Given the description of an element on the screen output the (x, y) to click on. 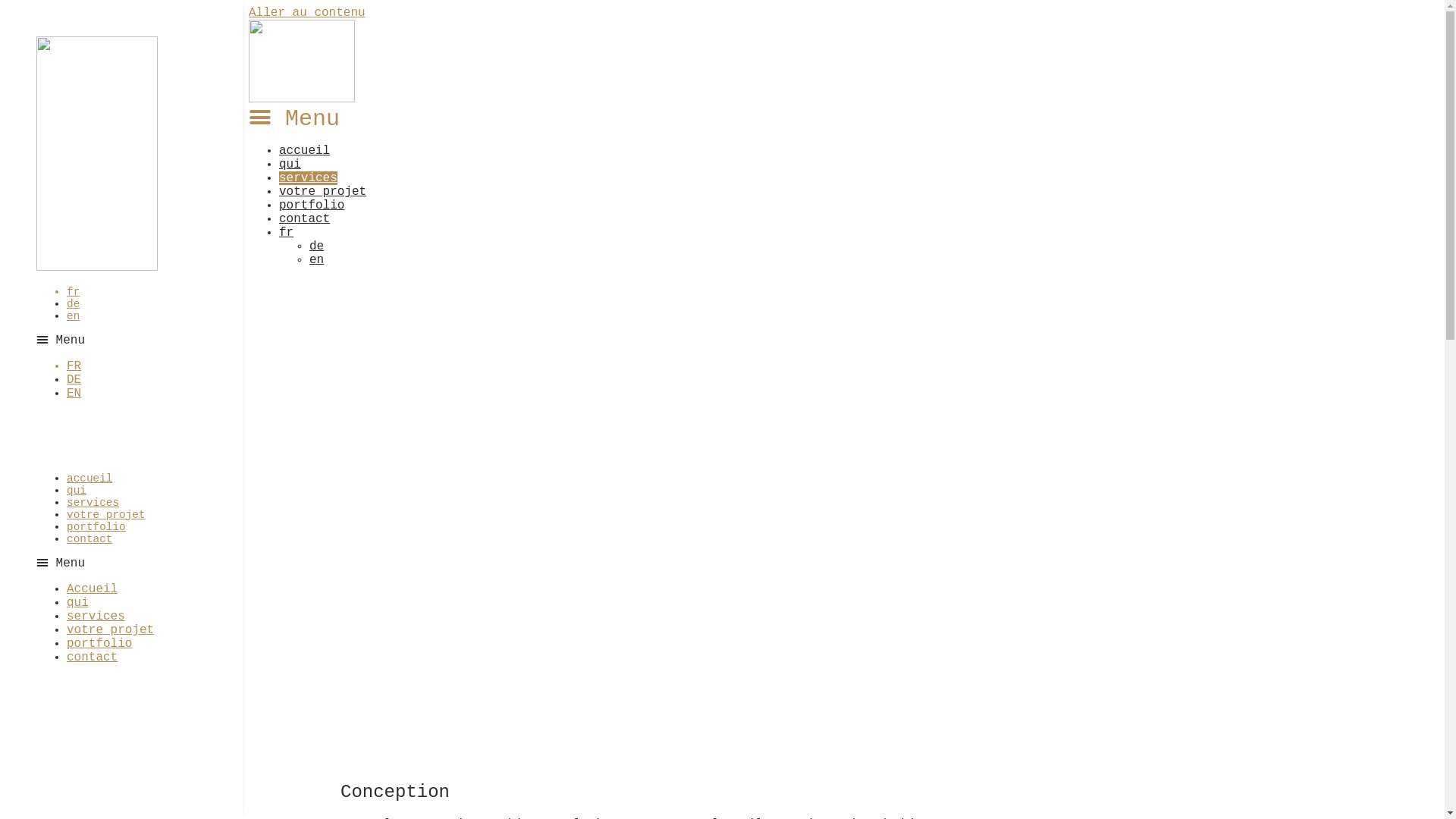
de Element type: text (72, 304)
contact Element type: text (91, 657)
en Element type: text (72, 316)
portfolio Element type: text (98, 643)
services Element type: text (95, 616)
DE Element type: text (73, 379)
qui Element type: text (77, 602)
contact Element type: text (89, 539)
fr Element type: text (72, 291)
accueil Element type: text (304, 150)
contact Element type: text (304, 218)
votre projet Element type: text (322, 191)
Accueil Element type: text (91, 589)
qui Element type: text (76, 490)
de Element type: text (316, 246)
votre projet Element type: text (105, 514)
qui Element type: text (290, 164)
services Element type: text (92, 502)
FR Element type: text (73, 366)
portfolio Element type: text (311, 205)
services Element type: text (308, 178)
fr Element type: text (286, 232)
accueil Element type: text (89, 478)
Aller au contenu Element type: text (306, 12)
en Element type: text (316, 259)
portfolio Element type: text (95, 526)
EN Element type: text (73, 393)
votre projet Element type: text (109, 630)
